Given the description of an element on the screen output the (x, y) to click on. 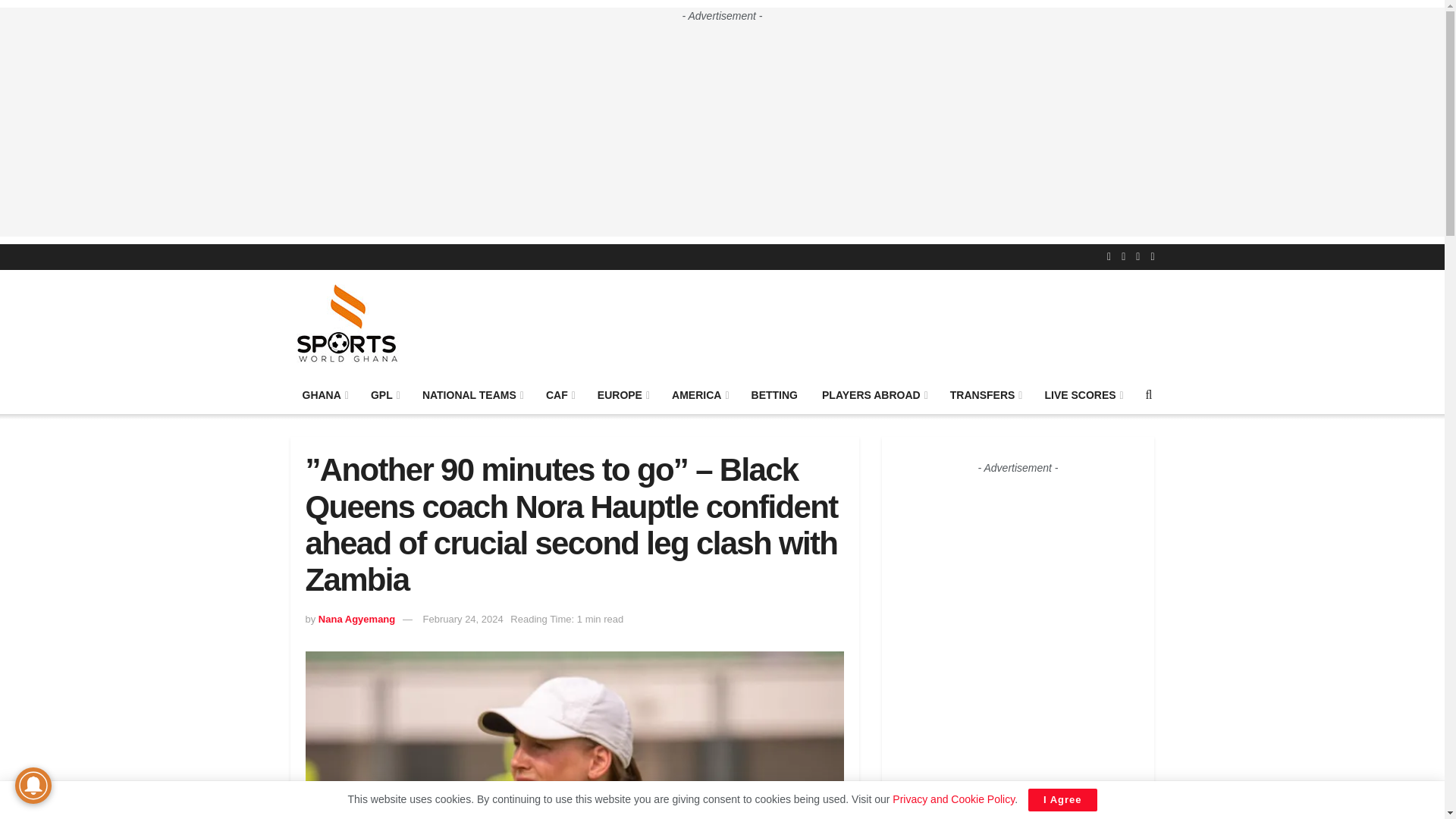
NATIONAL TEAMS (472, 394)
GHANA (323, 394)
GPL (384, 394)
